Given the description of an element on the screen output the (x, y) to click on. 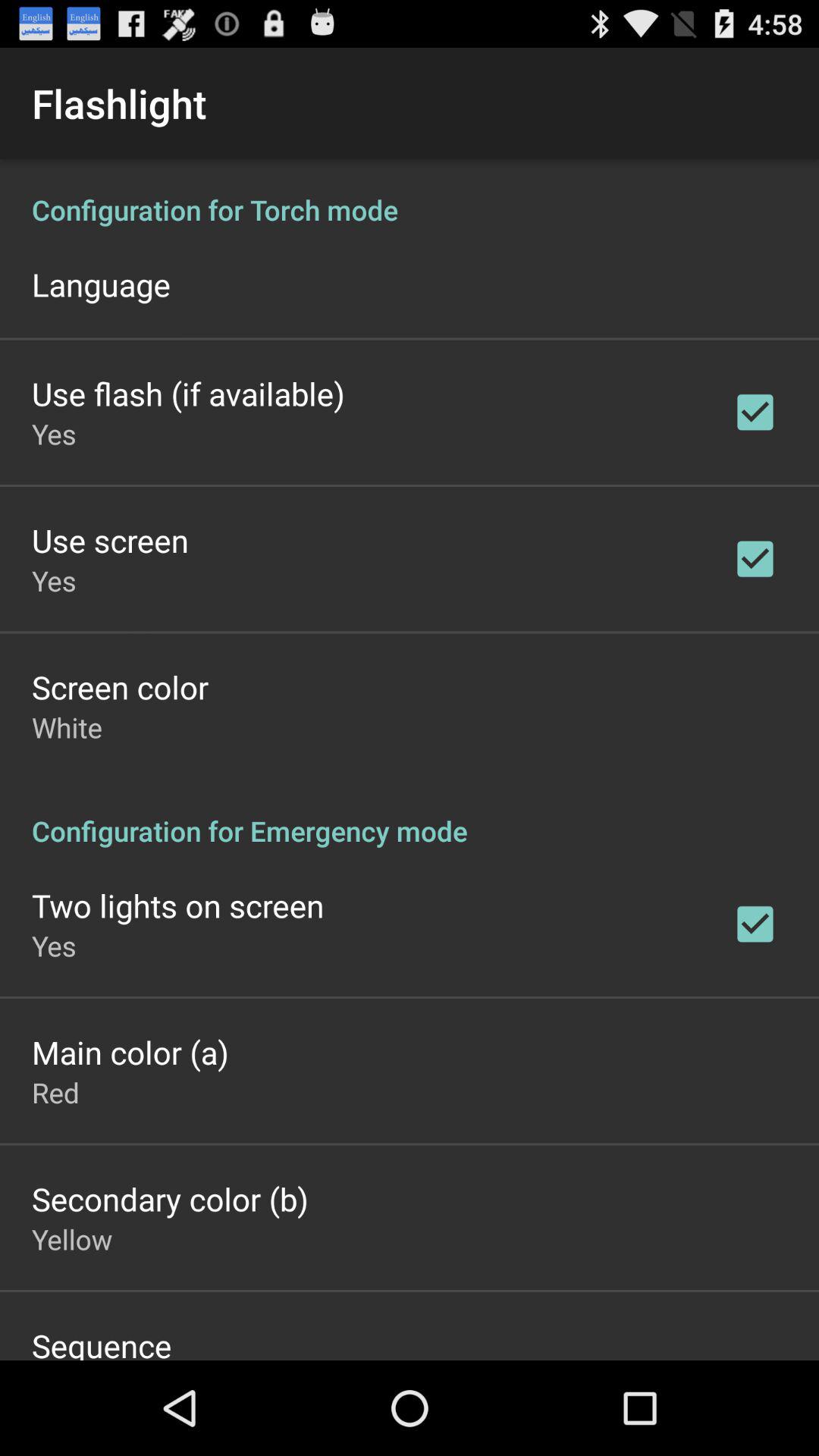
click the item below the red item (169, 1198)
